Given the description of an element on the screen output the (x, y) to click on. 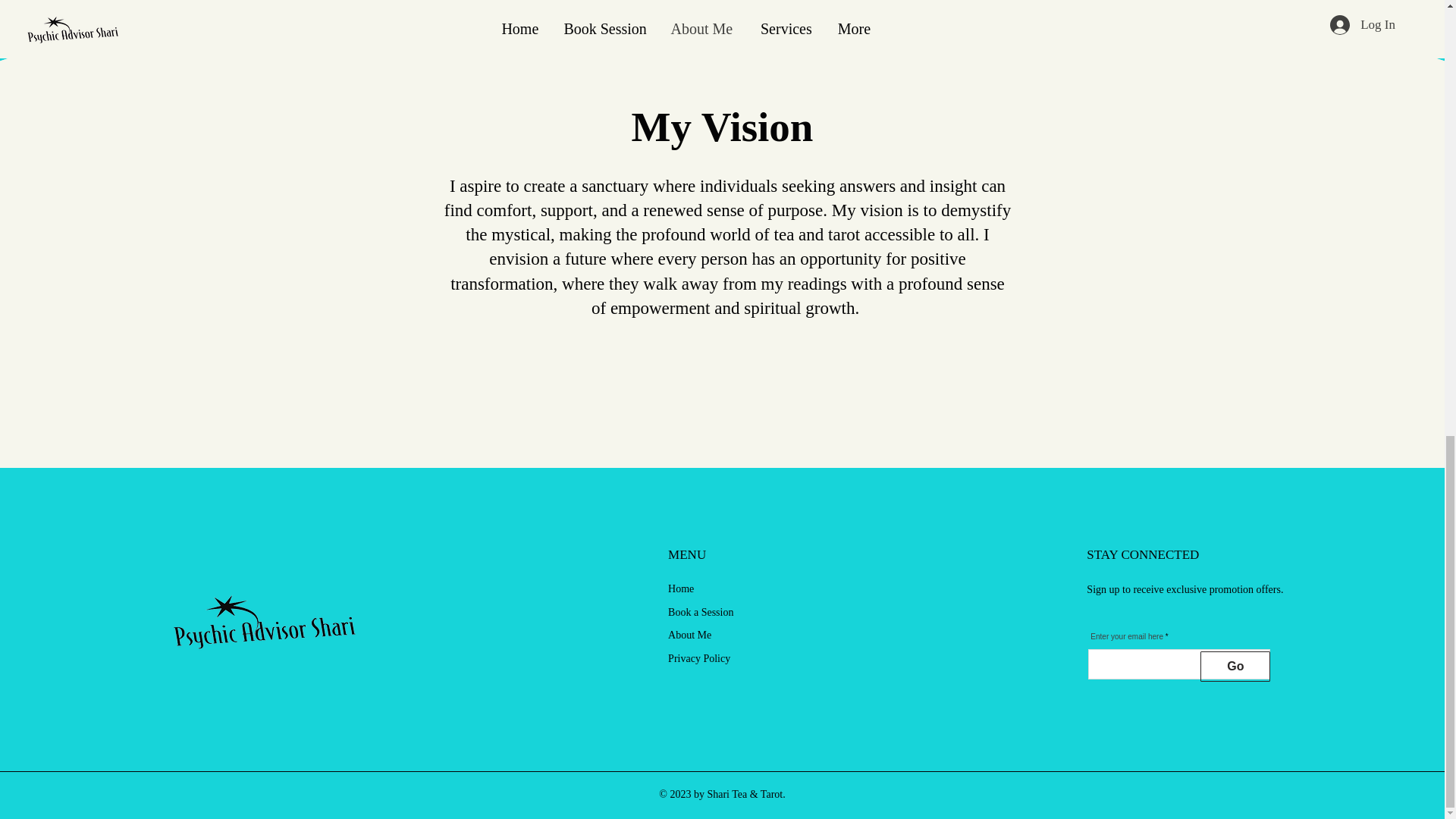
Book a Session (700, 612)
Go (1234, 666)
Privacy Policy (699, 658)
About Me (689, 634)
Home (681, 588)
